Given the description of an element on the screen output the (x, y) to click on. 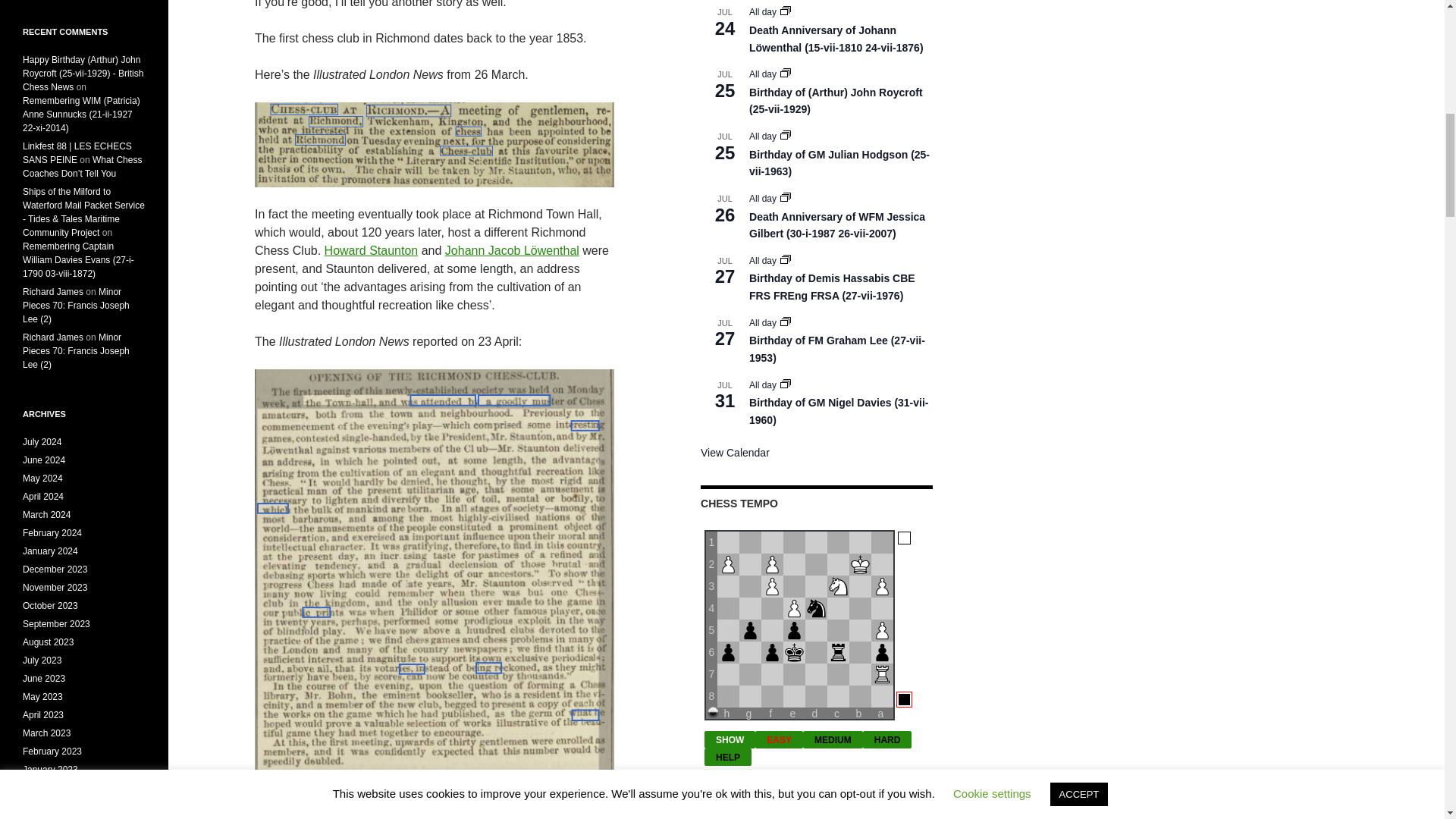
Event Series (785, 383)
Event Series (785, 10)
Event Series (785, 134)
Event Series (785, 73)
Howard Staunton (371, 250)
Event Series (785, 258)
Event Series (785, 71)
Event Series (785, 196)
Event Series (785, 320)
Event Series (785, 11)
